Given the description of an element on the screen output the (x, y) to click on. 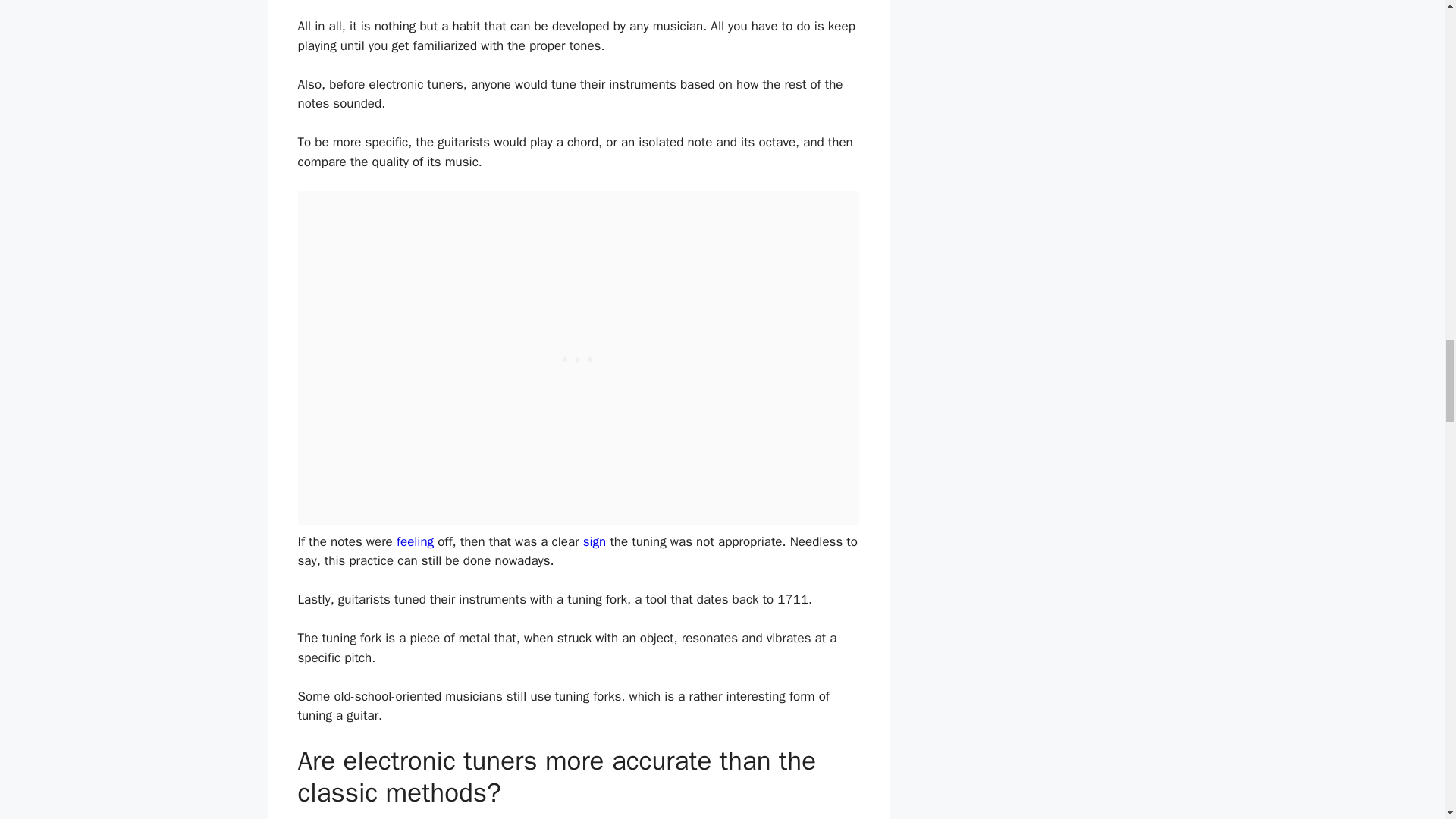
feeling (414, 541)
sign (595, 541)
